Given the description of an element on the screen output the (x, y) to click on. 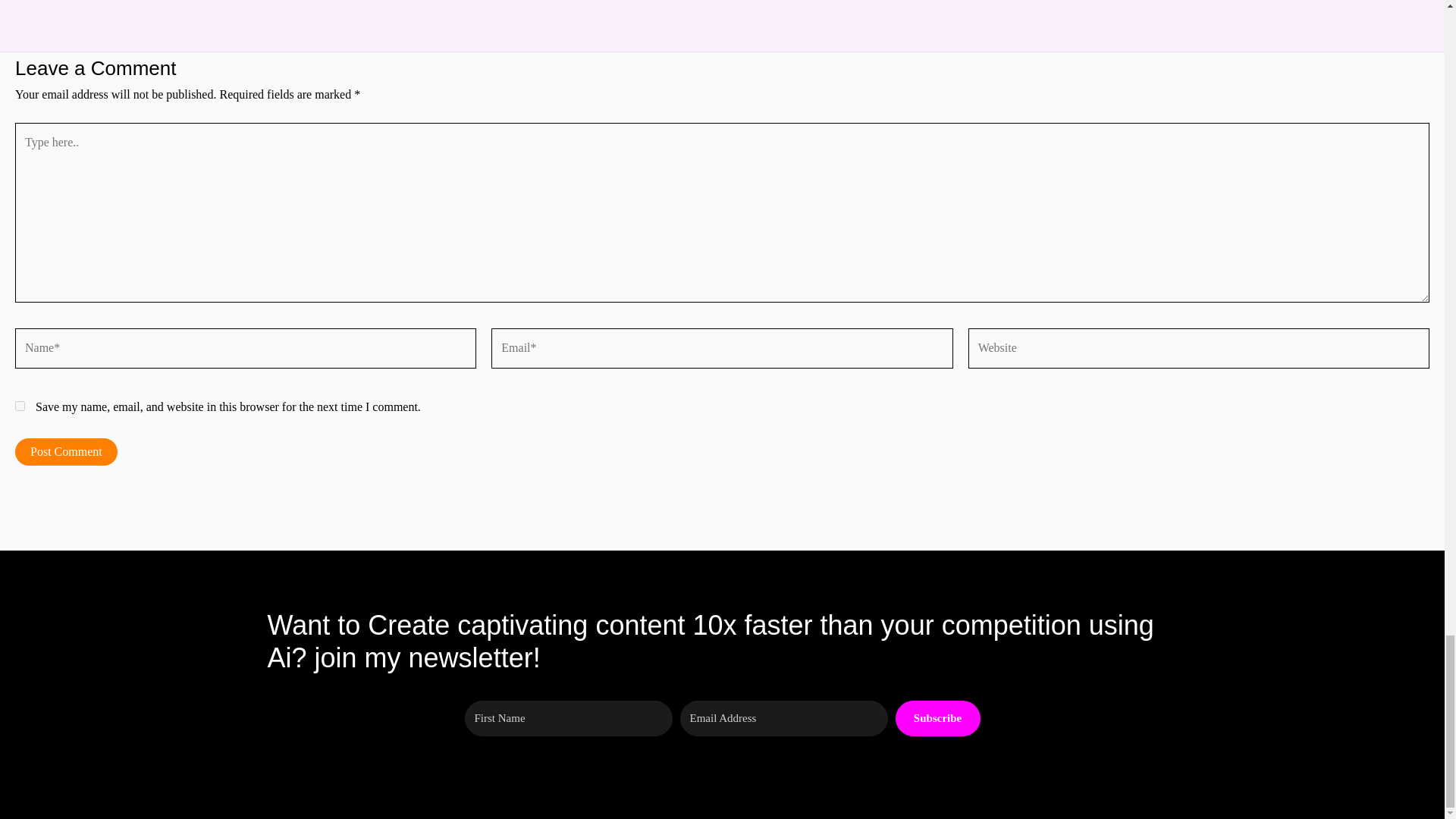
Subscribe (937, 718)
Post Comment (65, 452)
Post Comment (65, 452)
yes (19, 406)
